Given the description of an element on the screen output the (x, y) to click on. 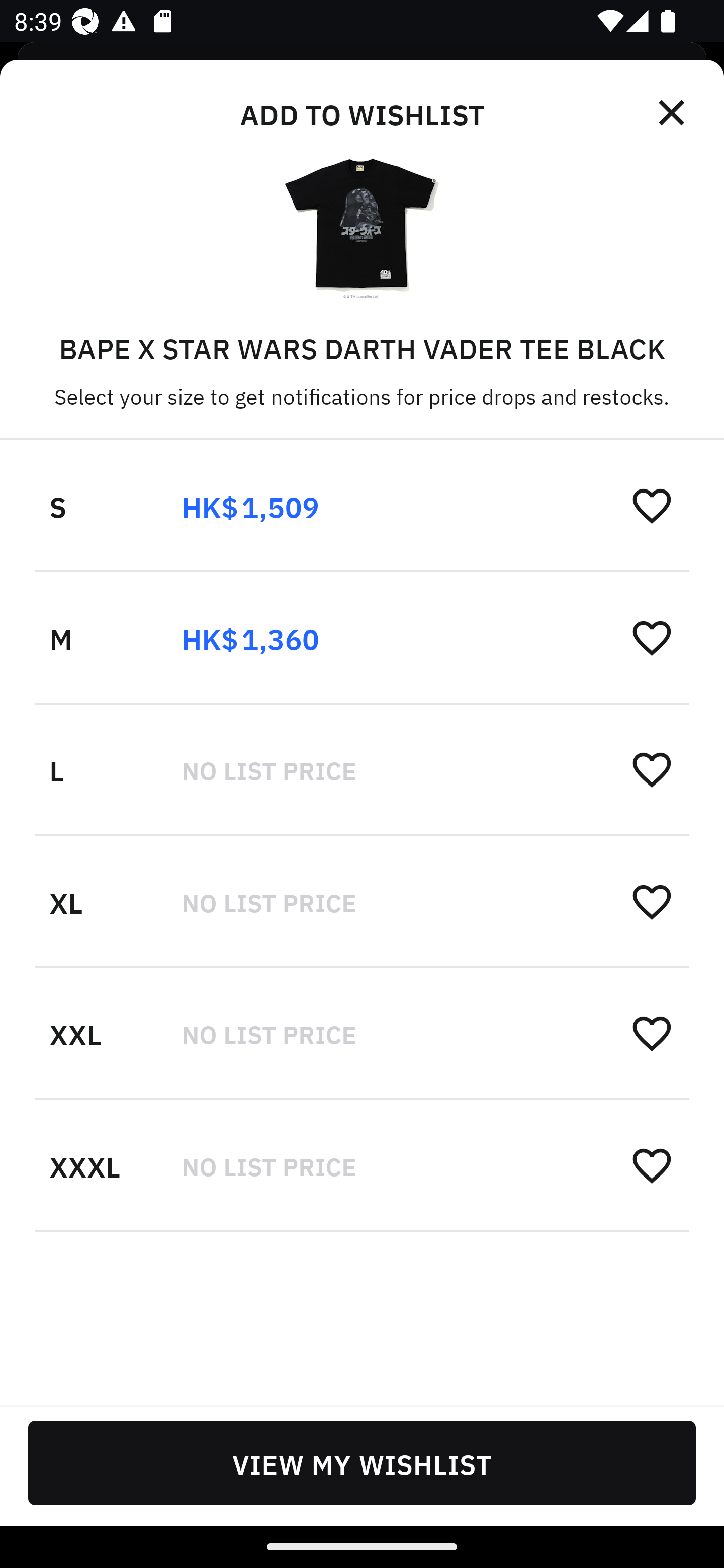
 (672, 112)
󰋕 (651, 505)
󰋕 (651, 637)
󰋕 (651, 768)
󰋕 (651, 900)
󰋕 (651, 1032)
󰋕 (651, 1165)
VIEW MY WISHLIST (361, 1462)
